Given the description of an element on the screen output the (x, y) to click on. 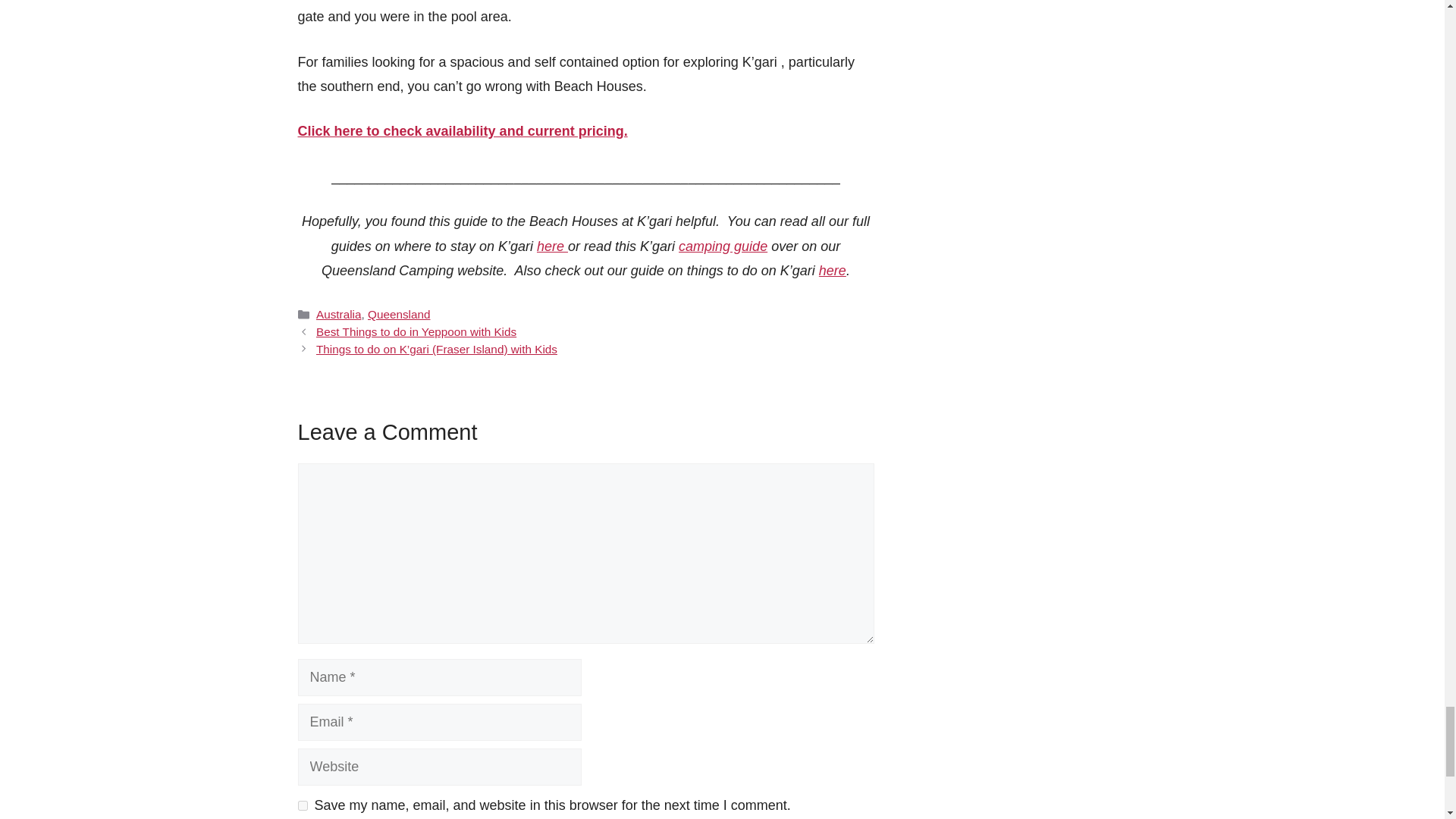
yes (302, 805)
